Given the description of an element on the screen output the (x, y) to click on. 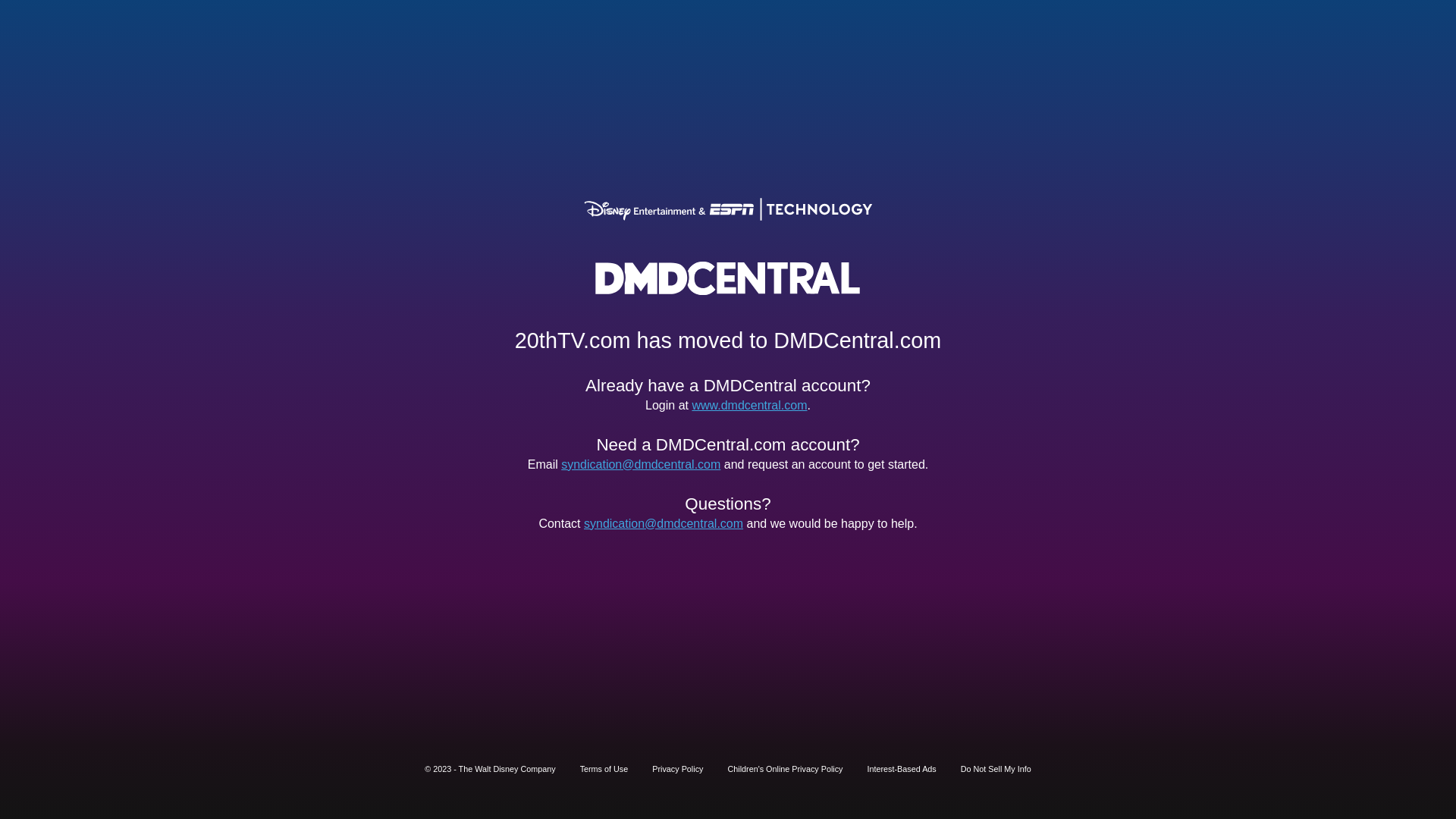
Do Not Sell My Info Element type: text (995, 768)
syndication@dmdcentral.com Element type: text (663, 523)
Privacy Policy Element type: text (677, 768)
www.dmdcentral.com Element type: text (748, 404)
Interest-Based Ads Element type: text (901, 768)
Terms of Use Element type: text (603, 768)
Children's Online Privacy Policy Element type: text (784, 768)
syndication@dmdcentral.com Element type: text (640, 464)
